Given the description of an element on the screen output the (x, y) to click on. 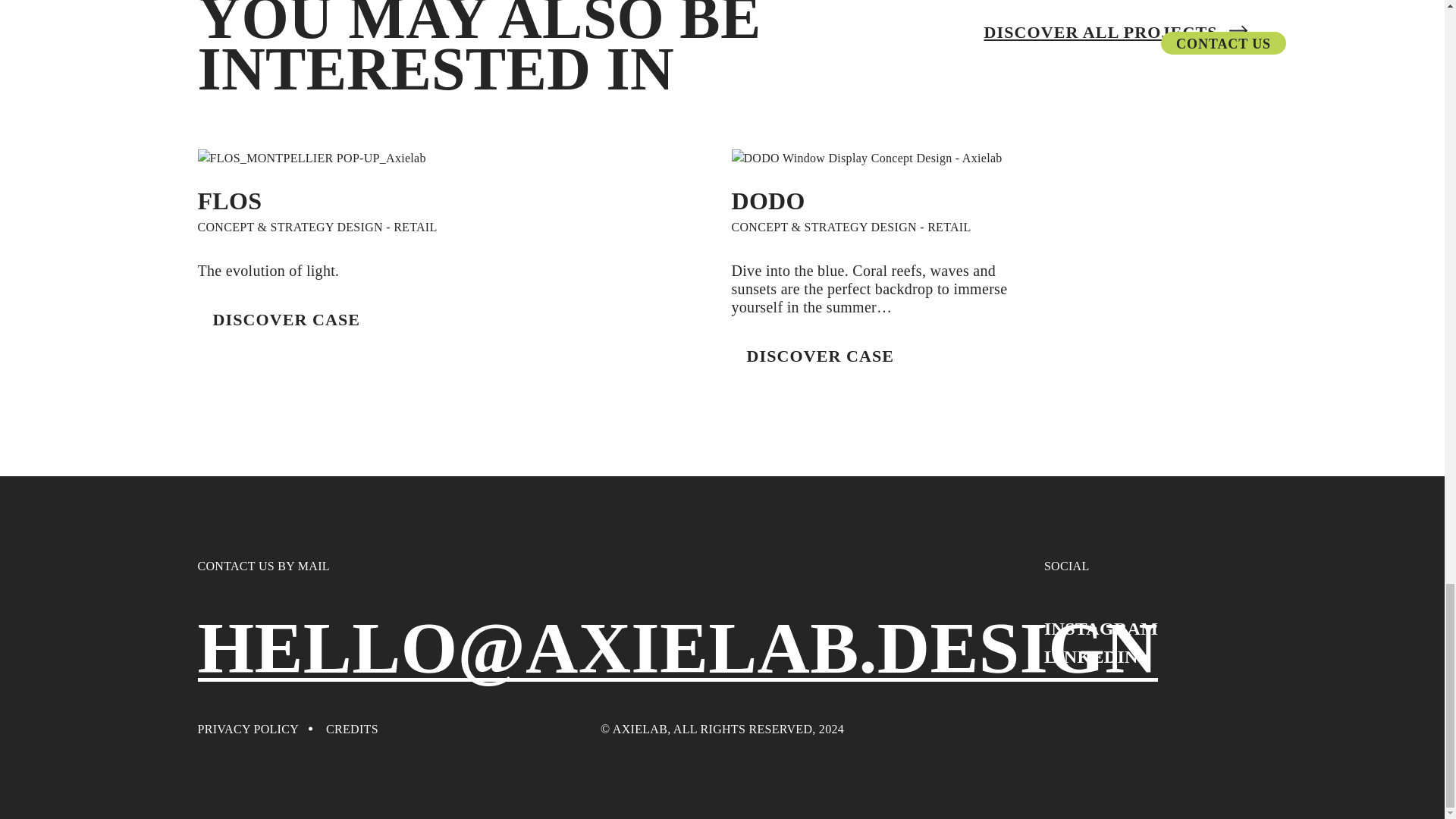
DISCOVER CASE (285, 319)
PRIVACY POLICY (247, 728)
CREDITS (352, 728)
DISCOVER ALL PROJECTS (1115, 31)
DISCOVER CASE (819, 356)
INSTAGRAM (1100, 628)
LINKEDIN (1090, 656)
